Given the description of an element on the screen output the (x, y) to click on. 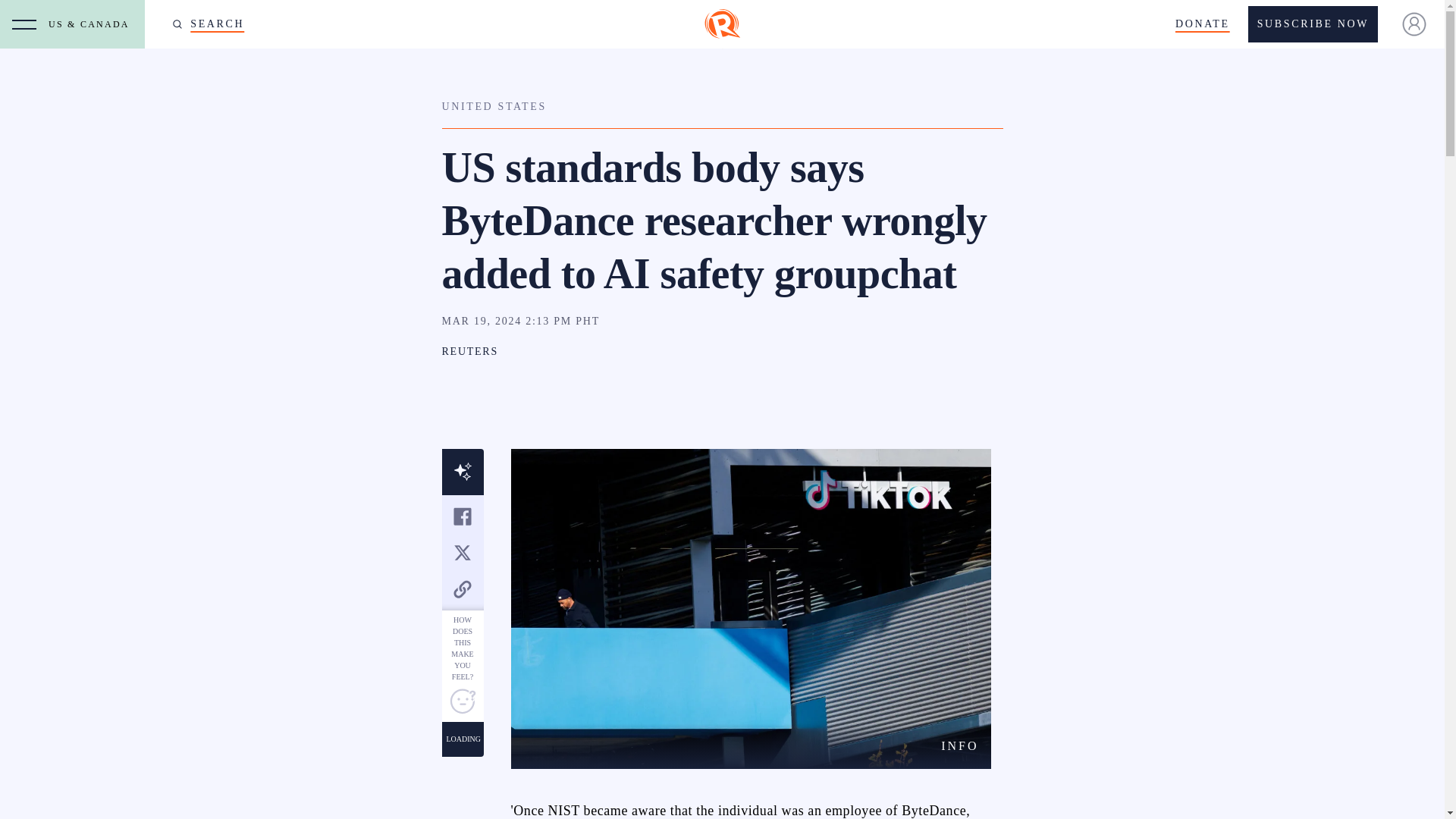
OPEN NAVIGATION (24, 24)
